Given the description of an element on the screen output the (x, y) to click on. 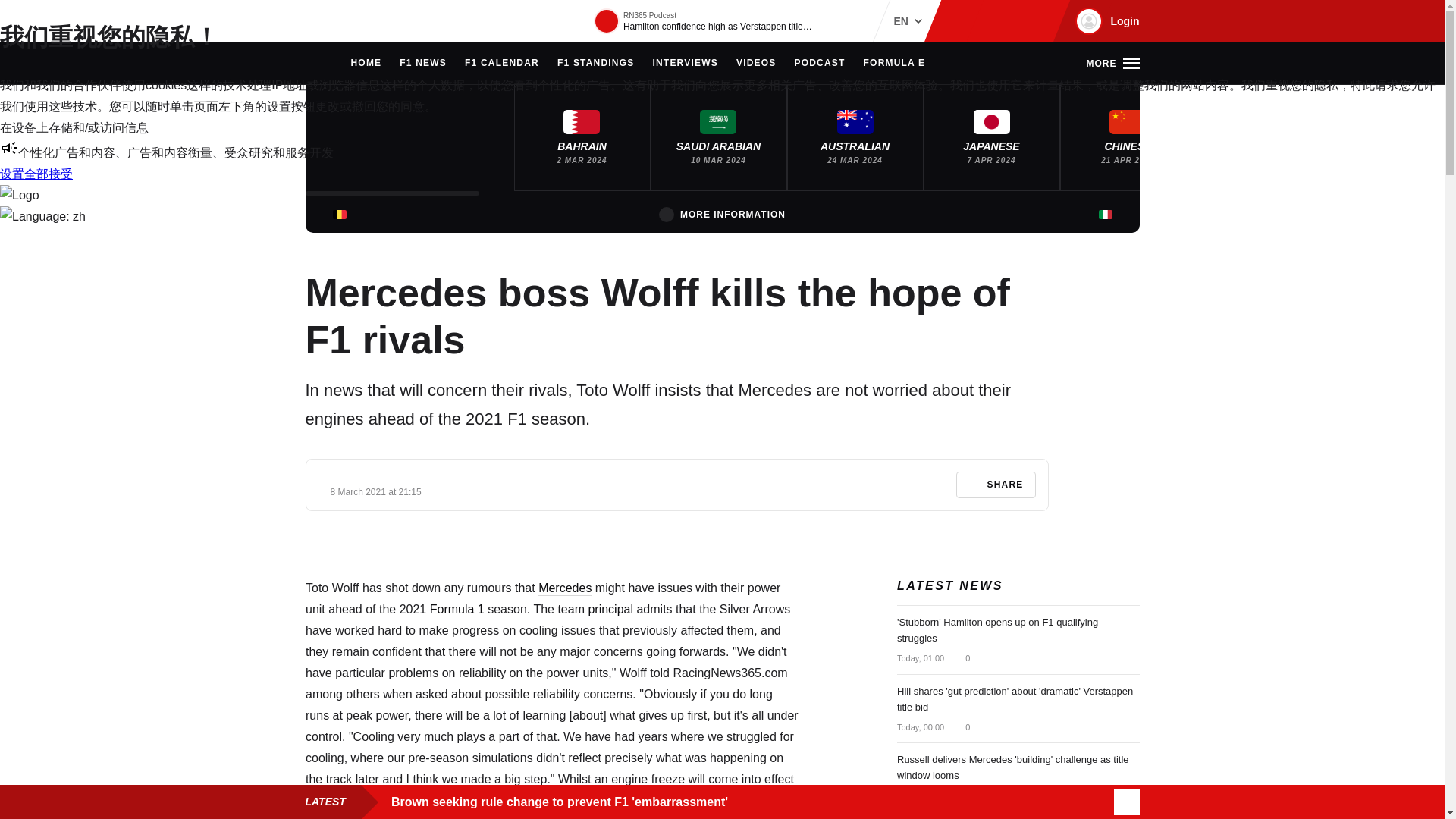
RacingNews365 (350, 21)
FORMULA E (894, 63)
RacingNews365 on Instagram (962, 21)
Monday 8 March 2021 at 21:15 (376, 491)
RacingNews365 on YouTube (1034, 21)
MORE INFORMATION (722, 214)
PODCAST (818, 63)
RacingNews365 on X (1010, 21)
Login (1104, 21)
F1 STANDINGS (595, 63)
